Given the description of an element on the screen output the (x, y) to click on. 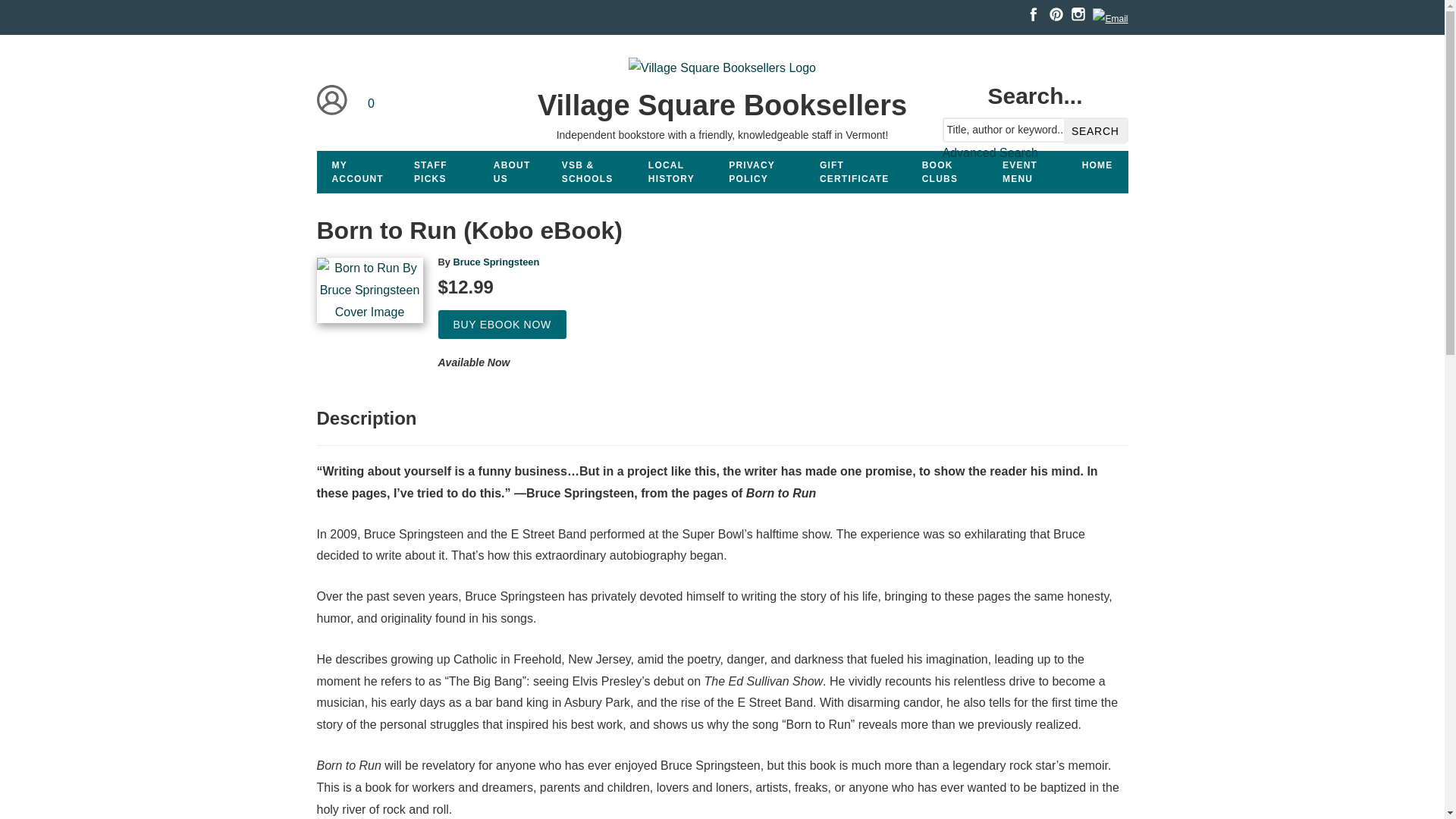
EVENT MENU (1027, 171)
Village Square Booksellers (721, 104)
HOME (1097, 164)
Home (721, 104)
Bruce Springsteen (495, 261)
Home (721, 70)
STAFF PICKS (438, 171)
search (1095, 131)
Buy eBook Now (502, 324)
Back to first page (1097, 164)
